Given the description of an element on the screen output the (x, y) to click on. 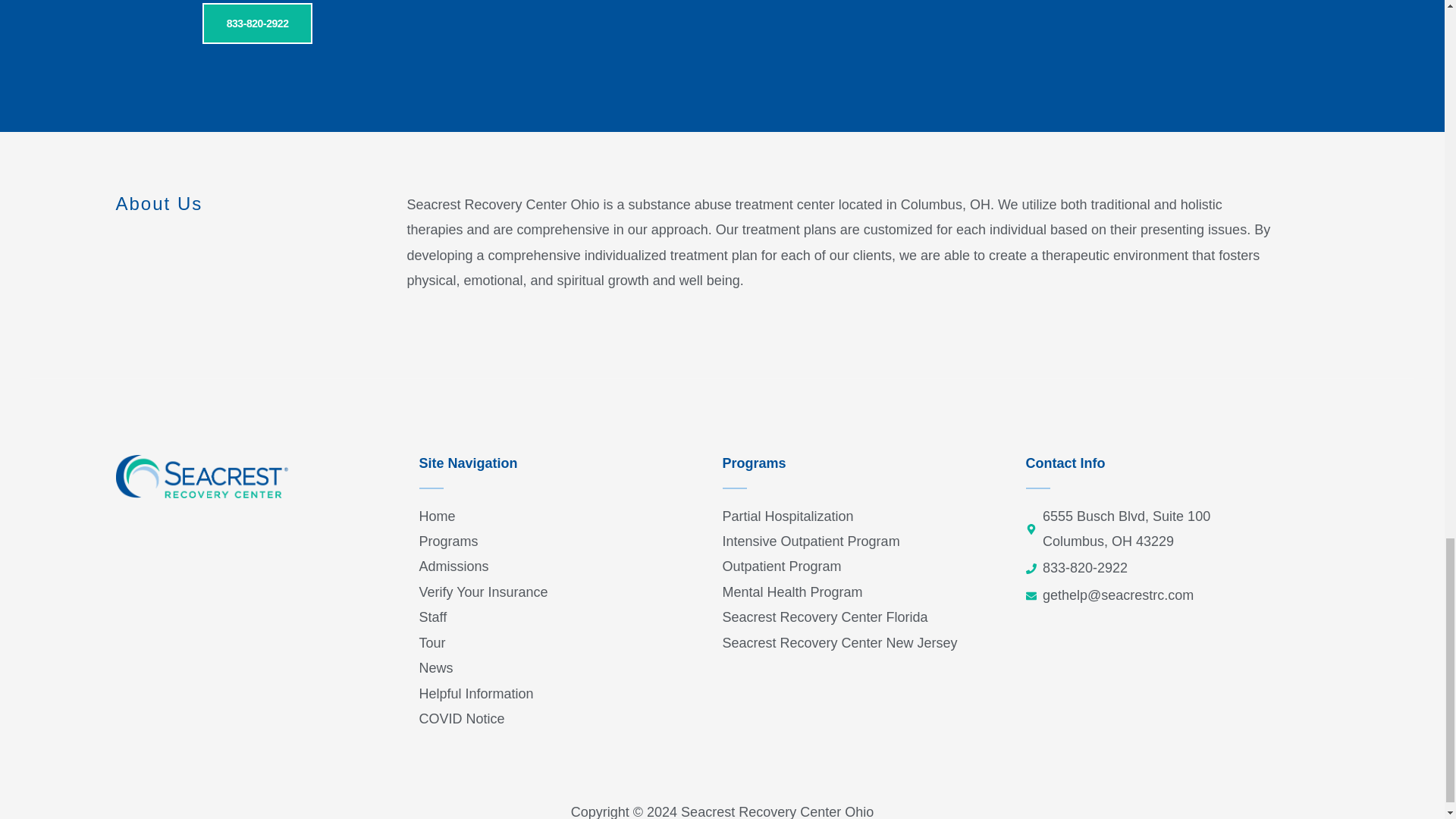
833-820-2922 (257, 23)
